Given the description of an element on the screen output the (x, y) to click on. 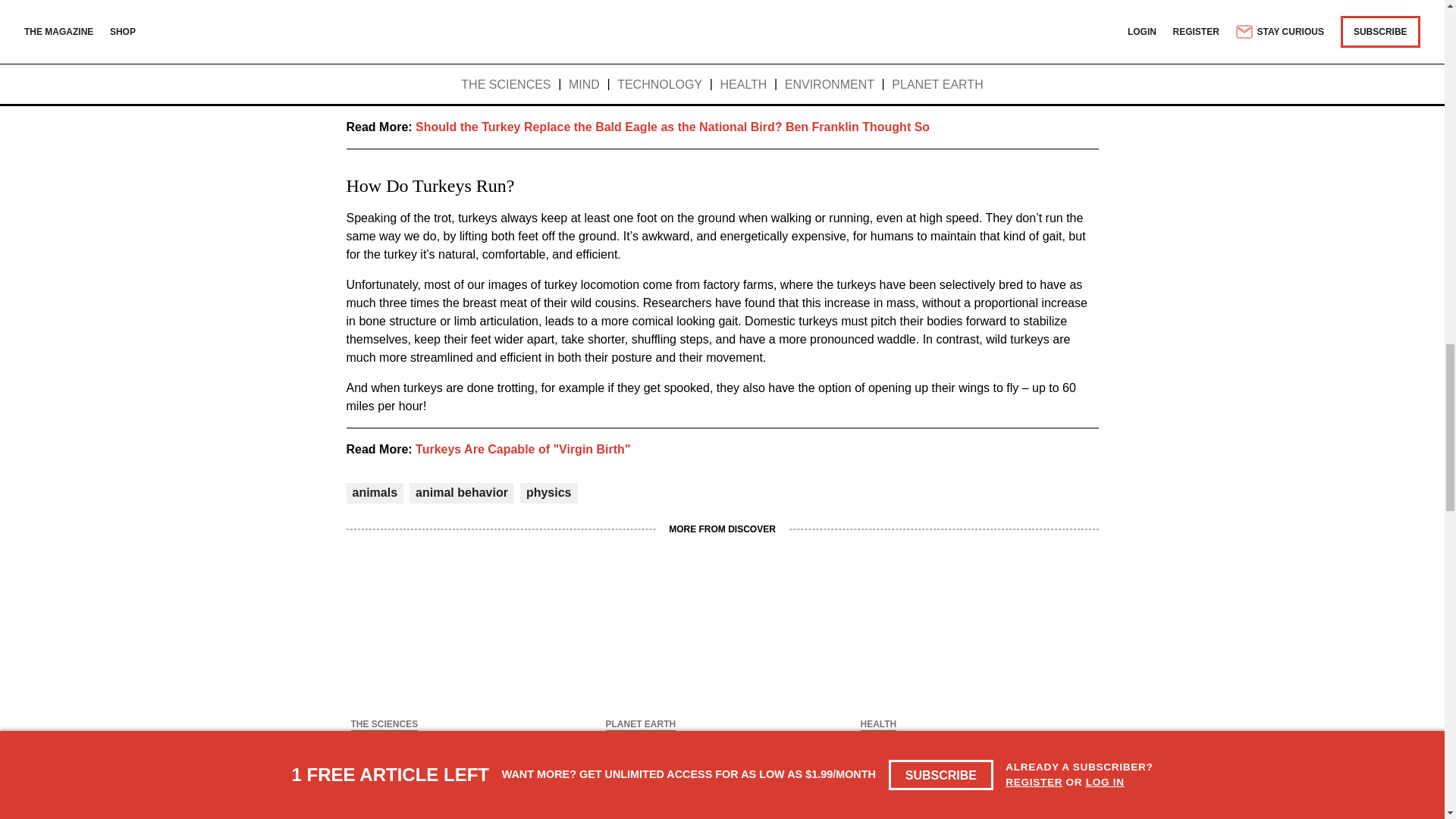
animals (374, 492)
physics (548, 492)
animal behavior (461, 492)
Turkeys Are Capable of "Virgin Birth" (522, 449)
